Given the description of an element on the screen output the (x, y) to click on. 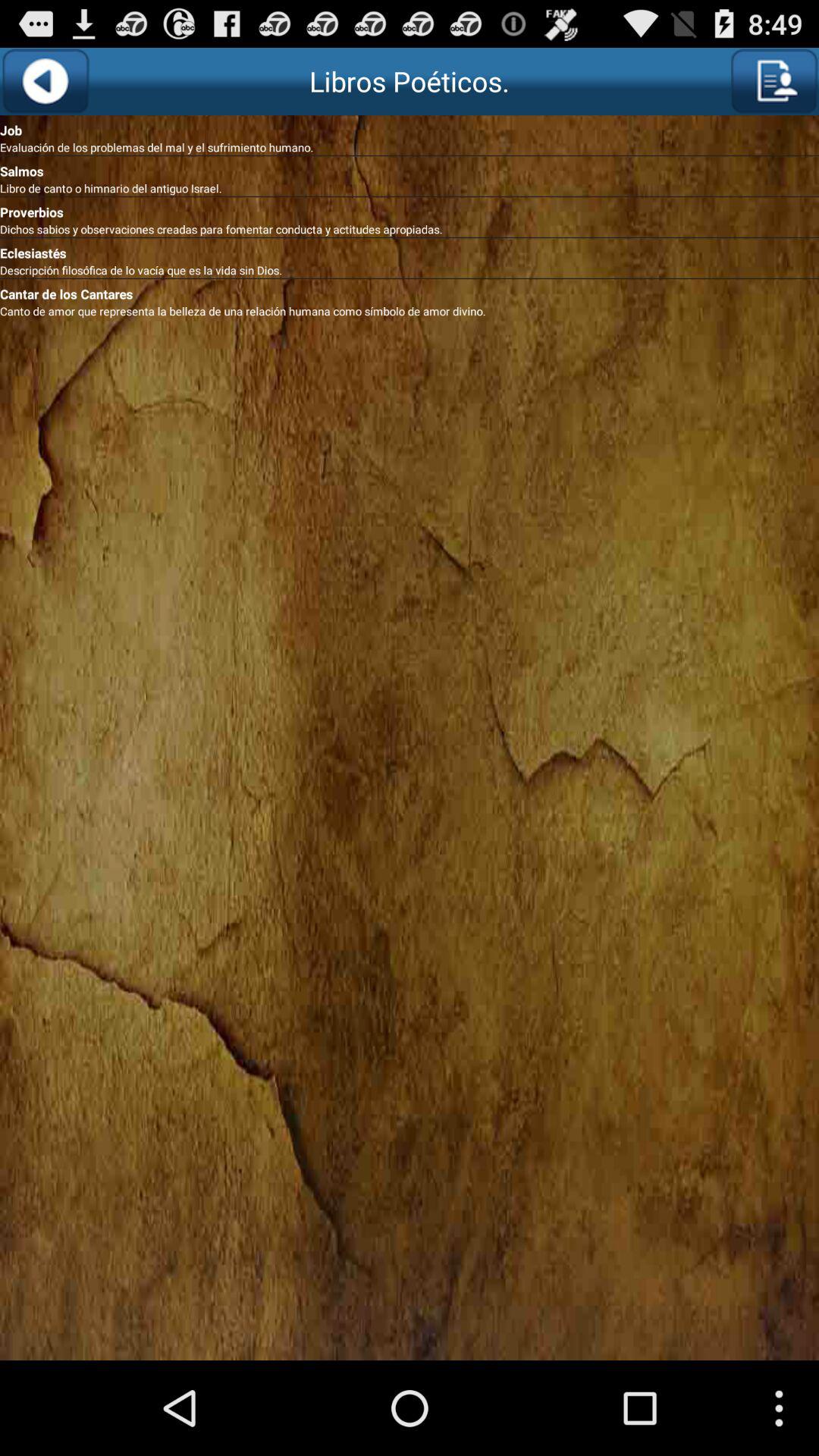
select the item above libro de canto icon (409, 168)
